Given the description of an element on the screen output the (x, y) to click on. 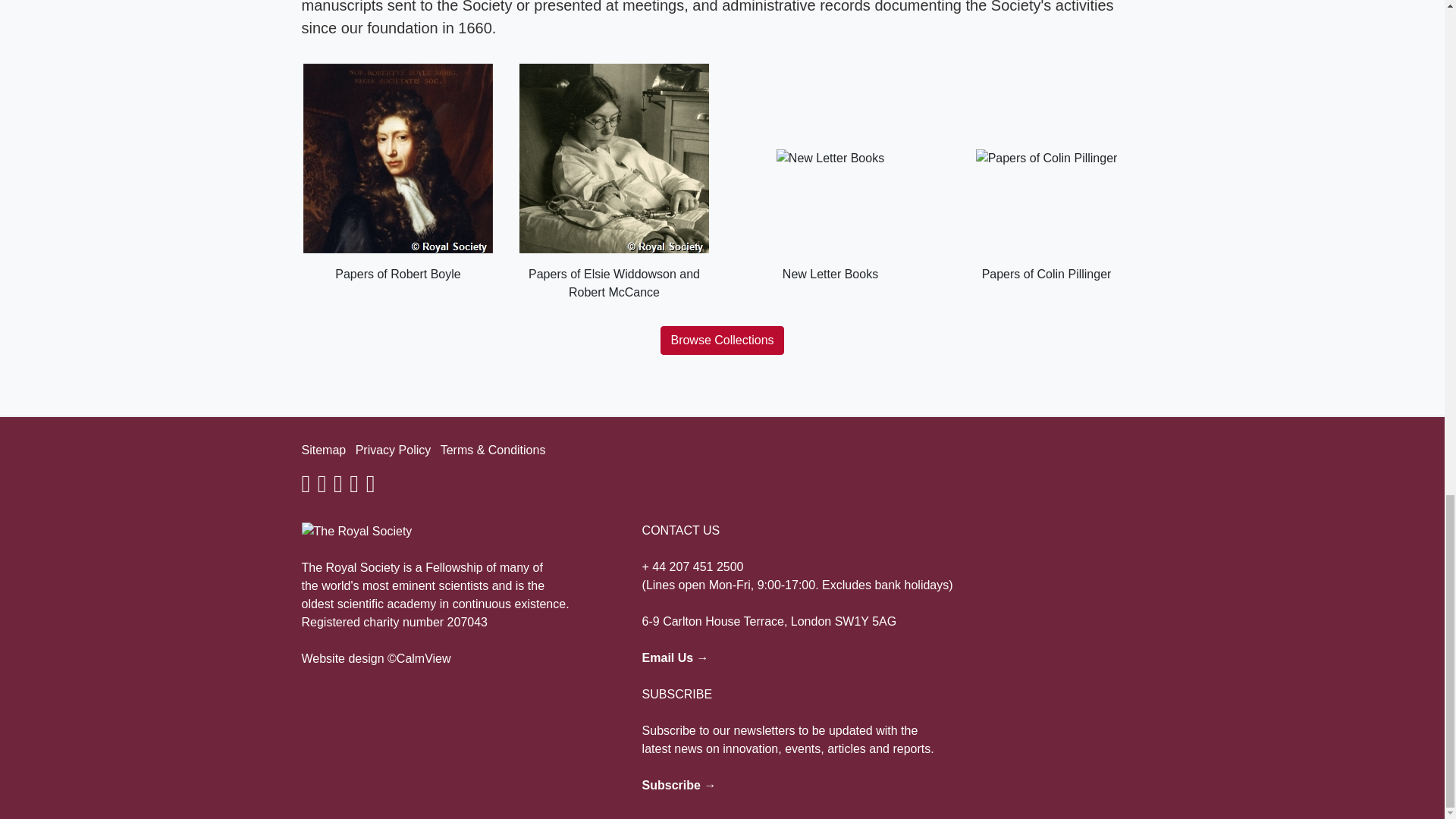
New Letter Books (830, 173)
youtube (353, 487)
Privacy Policy (392, 449)
linkedin (370, 487)
Papers of Elsie Widdowson and Robert McCance (613, 182)
Papers of Colin Pillinger (1045, 173)
Sitemap (323, 449)
instagram (337, 487)
facebook (306, 487)
Browse Collections (722, 339)
Papers of Robert Boyle (398, 173)
twitter (321, 487)
